Given the description of an element on the screen output the (x, y) to click on. 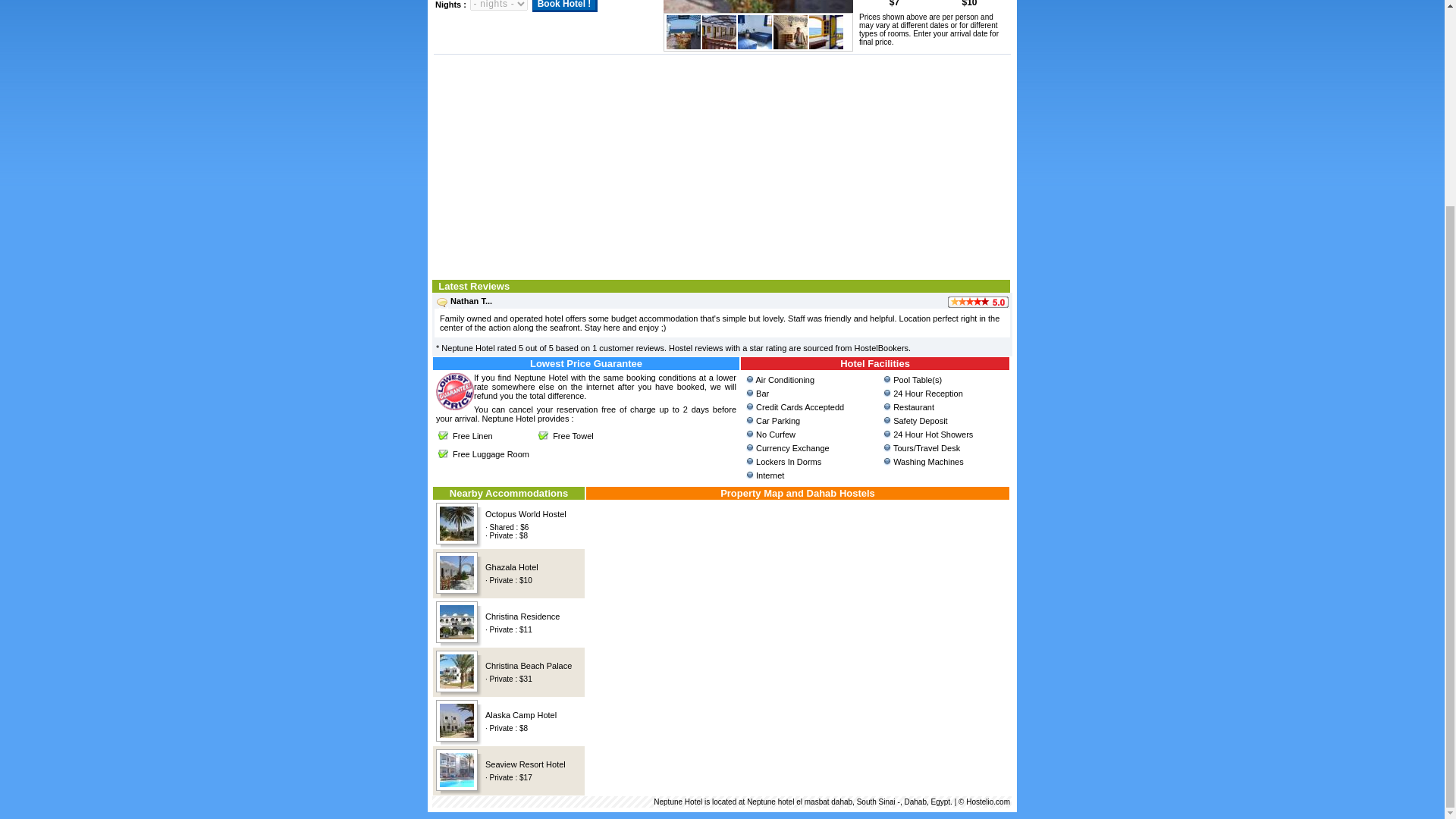
Ghazala Hotel (511, 566)
Christina Residence (521, 615)
Octopus World Hostel (525, 513)
Book Hotel ! (565, 6)
Christina Beach Palace (528, 665)
Alaska Camp Hotel (520, 714)
Seaview Resort Hotel (525, 764)
Advertisement (721, 164)
address (721, 801)
